Given the description of an element on the screen output the (x, y) to click on. 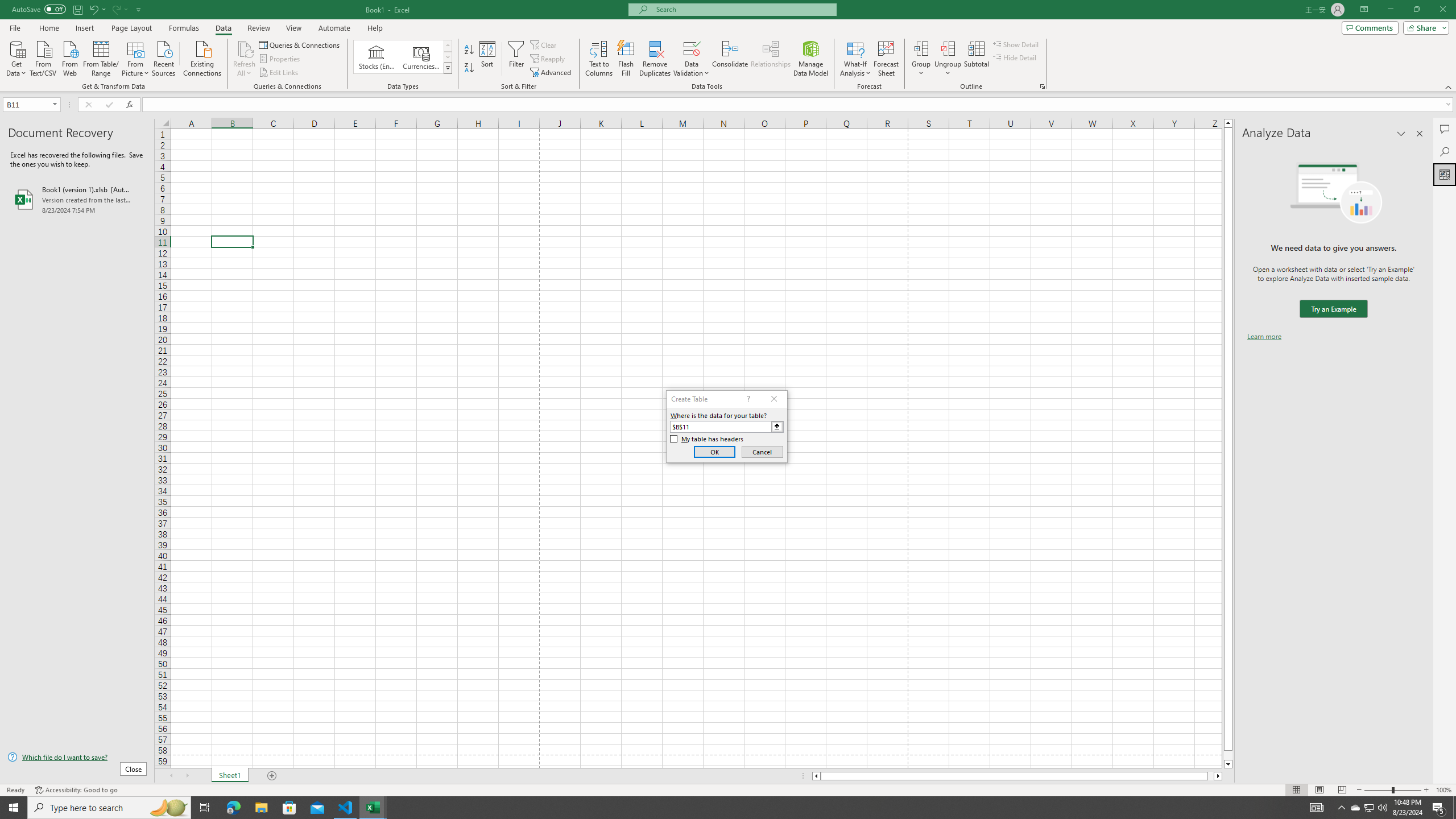
Group... (921, 48)
What-If Analysis (855, 58)
